Given the description of an element on the screen output the (x, y) to click on. 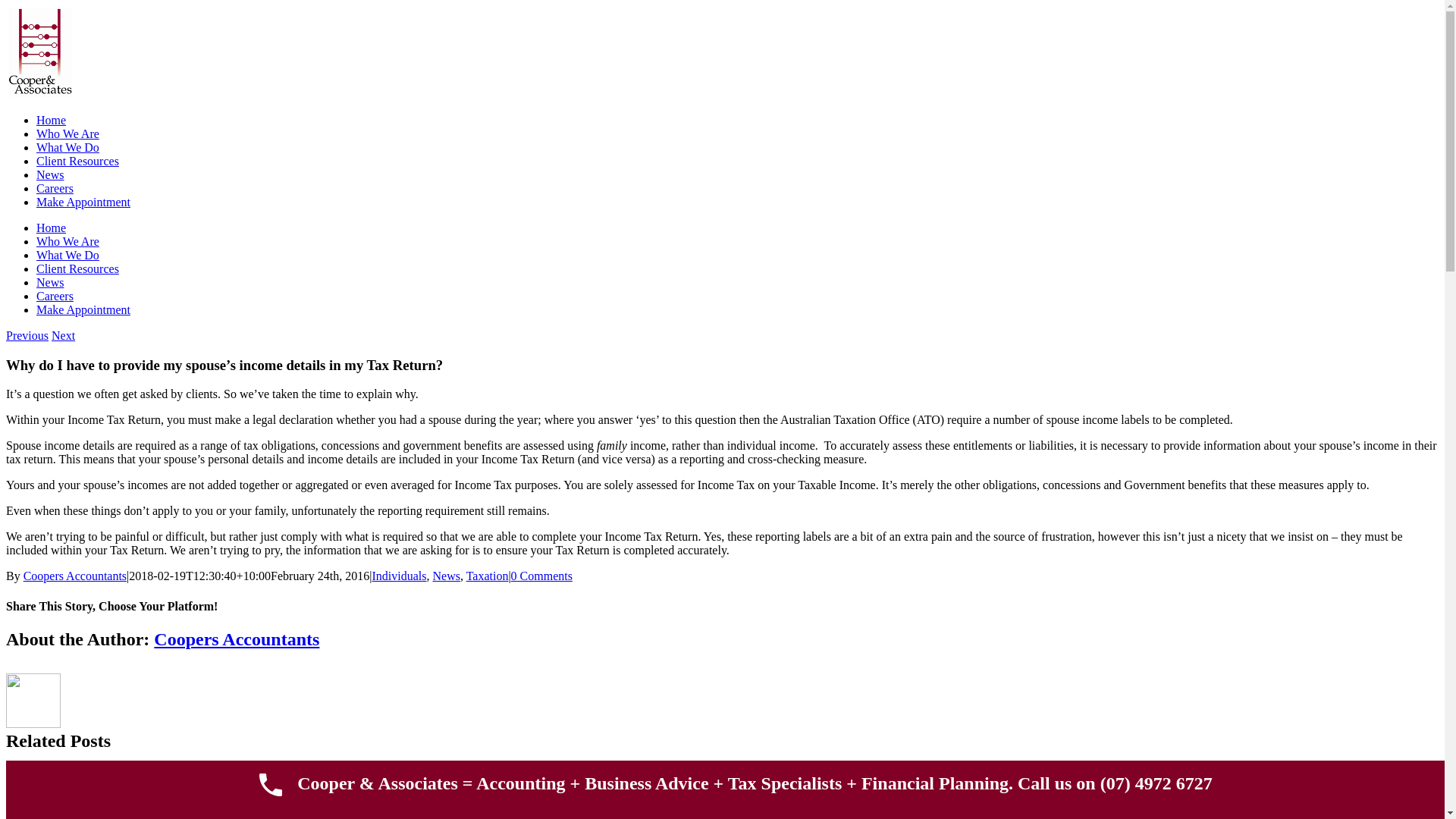
Client Resources Element type: text (77, 268)
Who We Are Element type: text (67, 241)
News Element type: text (49, 282)
Careers Element type: text (54, 188)
Skip to content Element type: text (5, 5)
Previous Element type: text (27, 335)
Coopers Accountants Element type: text (74, 575)
Home Element type: text (50, 119)
What We Do Element type: text (67, 147)
Taxation Element type: text (487, 575)
Make Appointment Element type: text (83, 201)
Next Element type: text (63, 335)
Individuals Element type: text (398, 575)
Client Resources Element type: text (77, 160)
News Element type: text (445, 575)
News Element type: text (49, 174)
What We Do Element type: text (67, 254)
Coopers Accountants Element type: text (236, 639)
Who We Are Element type: text (67, 133)
Home Element type: text (50, 227)
Make Appointment Element type: text (83, 309)
Careers Element type: text (54, 295)
0 Comments Element type: text (541, 575)
